Given the description of an element on the screen output the (x, y) to click on. 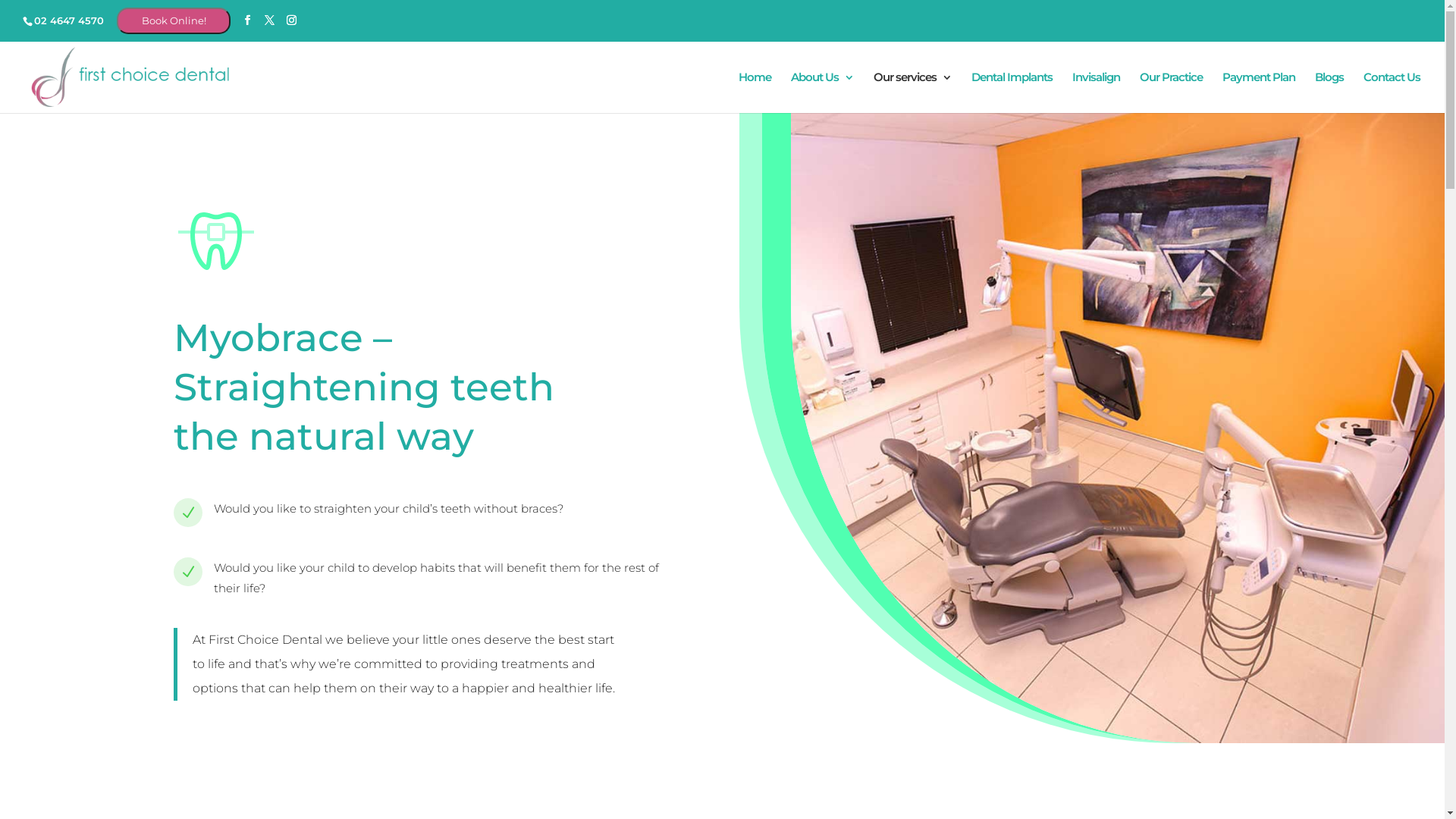
About Us Element type: text (821, 91)
Book Online! Element type: text (173, 20)
02 4647 4570 Element type: text (62, 20)
Book Online! Element type: text (173, 20)
Invisalign Element type: text (1096, 91)
First choice dental clinic room Element type: hover (1117, 427)
Our Practice Element type: text (1170, 91)
Payment Plan Element type: text (1258, 91)
Dental Implants Element type: text (1011, 91)
Blogs Element type: text (1328, 91)
Our services Element type: text (912, 91)
Contact Us Element type: text (1391, 91)
Home Element type: text (754, 91)
